Given the description of an element on the screen output the (x, y) to click on. 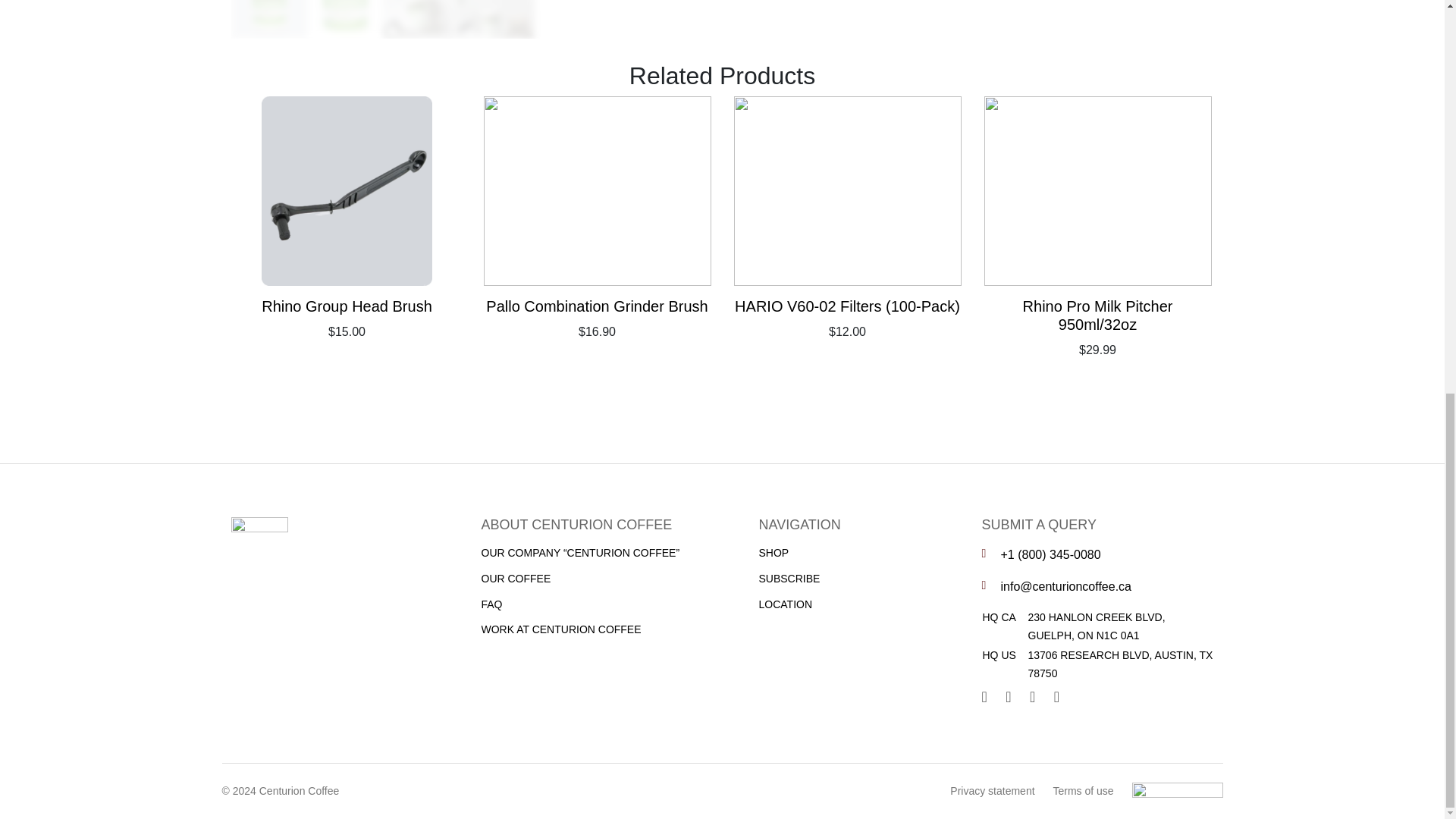
13 (267, 19)
caffeto 1 (343, 19)
cafetto 2 (496, 19)
Rhino Group Head Brush (347, 306)
cafetto 3 (419, 19)
